Given the description of an element on the screen output the (x, y) to click on. 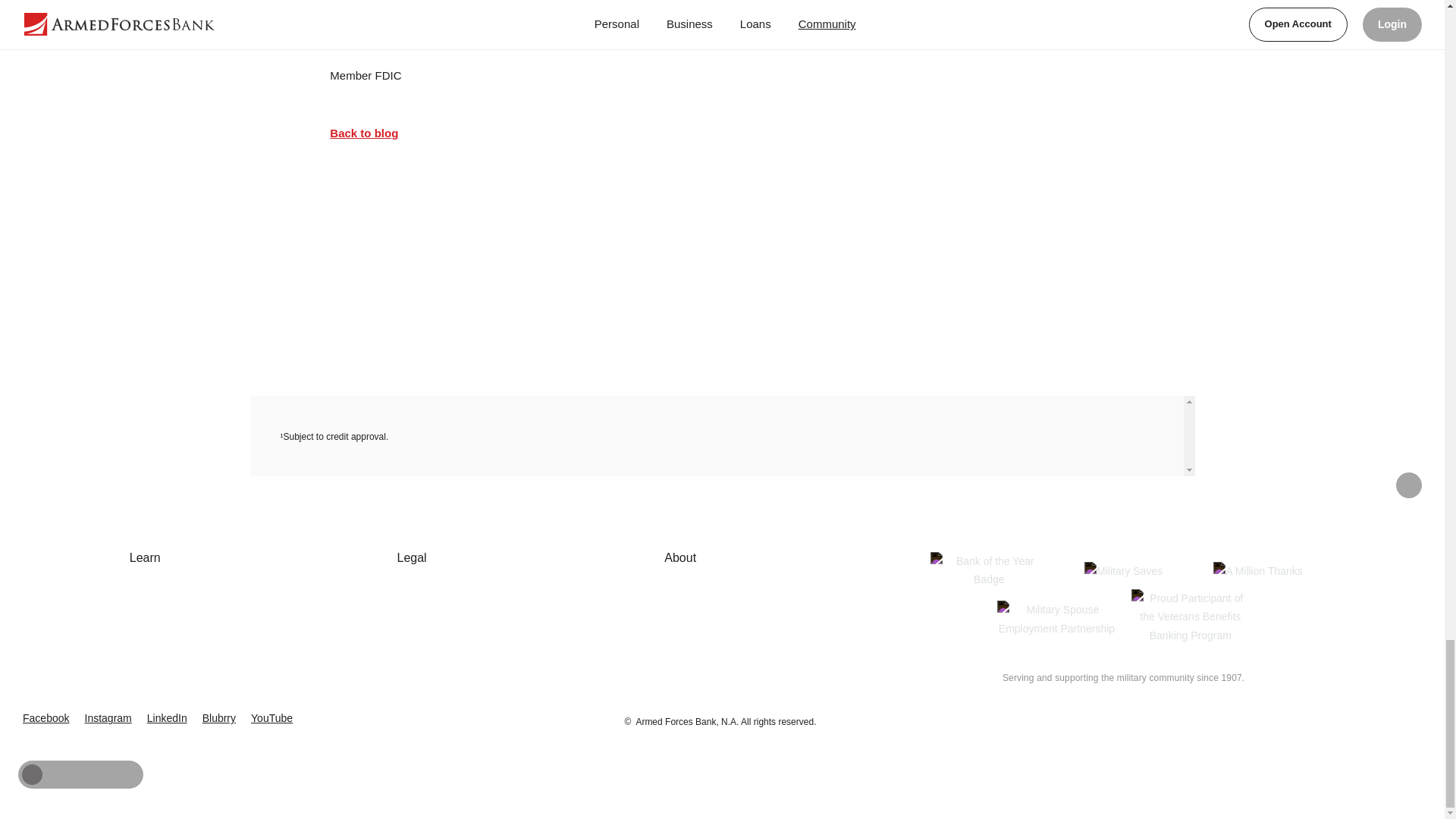
Equal Housing Lender (1369, 710)
Member FDIC (1308, 714)
Scroll back to the top (1409, 484)
